Given the description of an element on the screen output the (x, y) to click on. 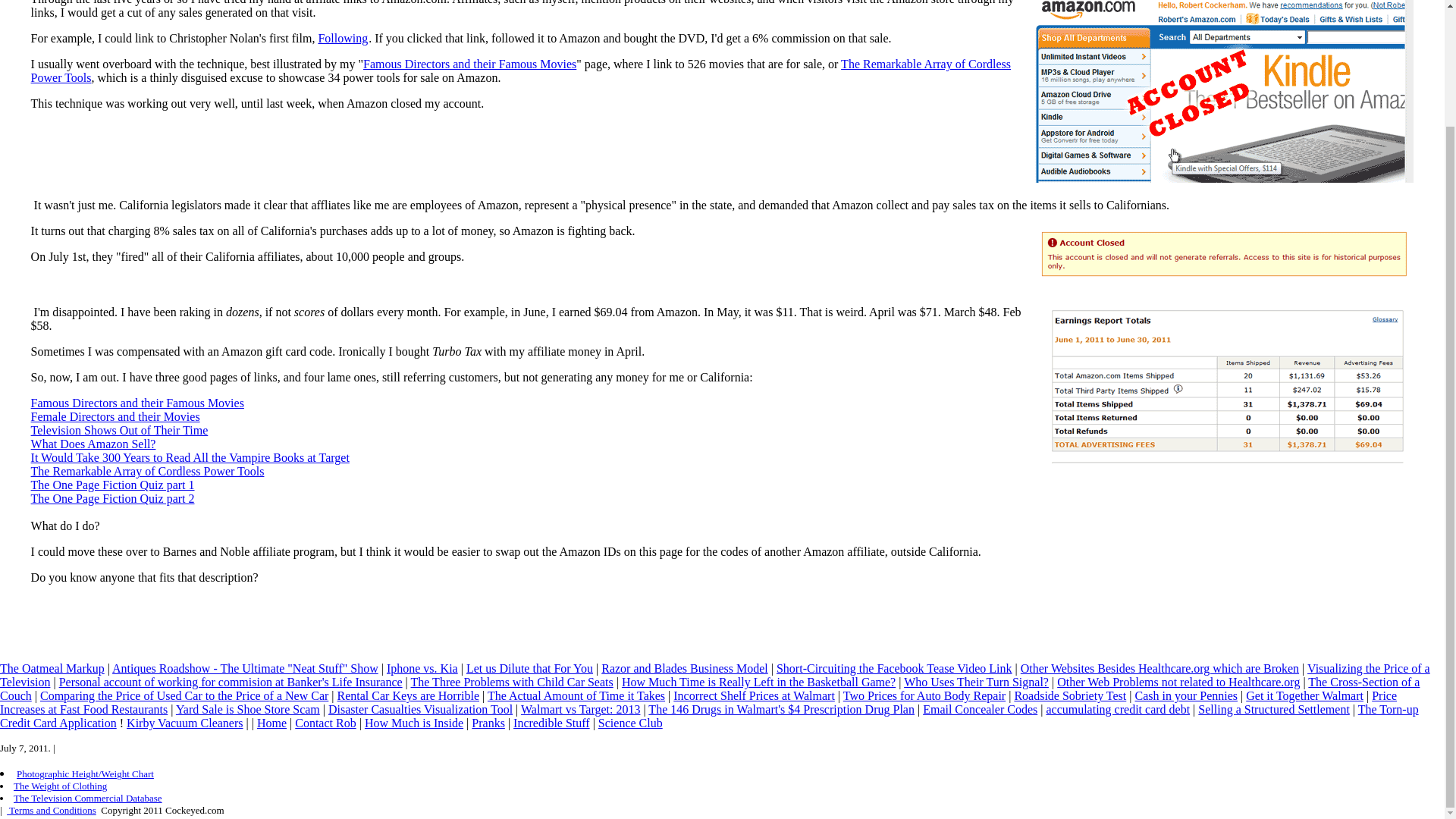
Visualizing the Price of a Television (714, 674)
Other Websites Besides Healthcare.org which are Broken (1159, 667)
Following (342, 38)
The One Page Fiction Quiz part 2 (112, 498)
Two Prices for Auto Body Repair (924, 695)
Get it Together Walmart (1304, 695)
Yard Sale is Shoe Store Scam (248, 708)
The Remarkable Array of Cordless Power Tools (520, 70)
